Given the description of an element on the screen output the (x, y) to click on. 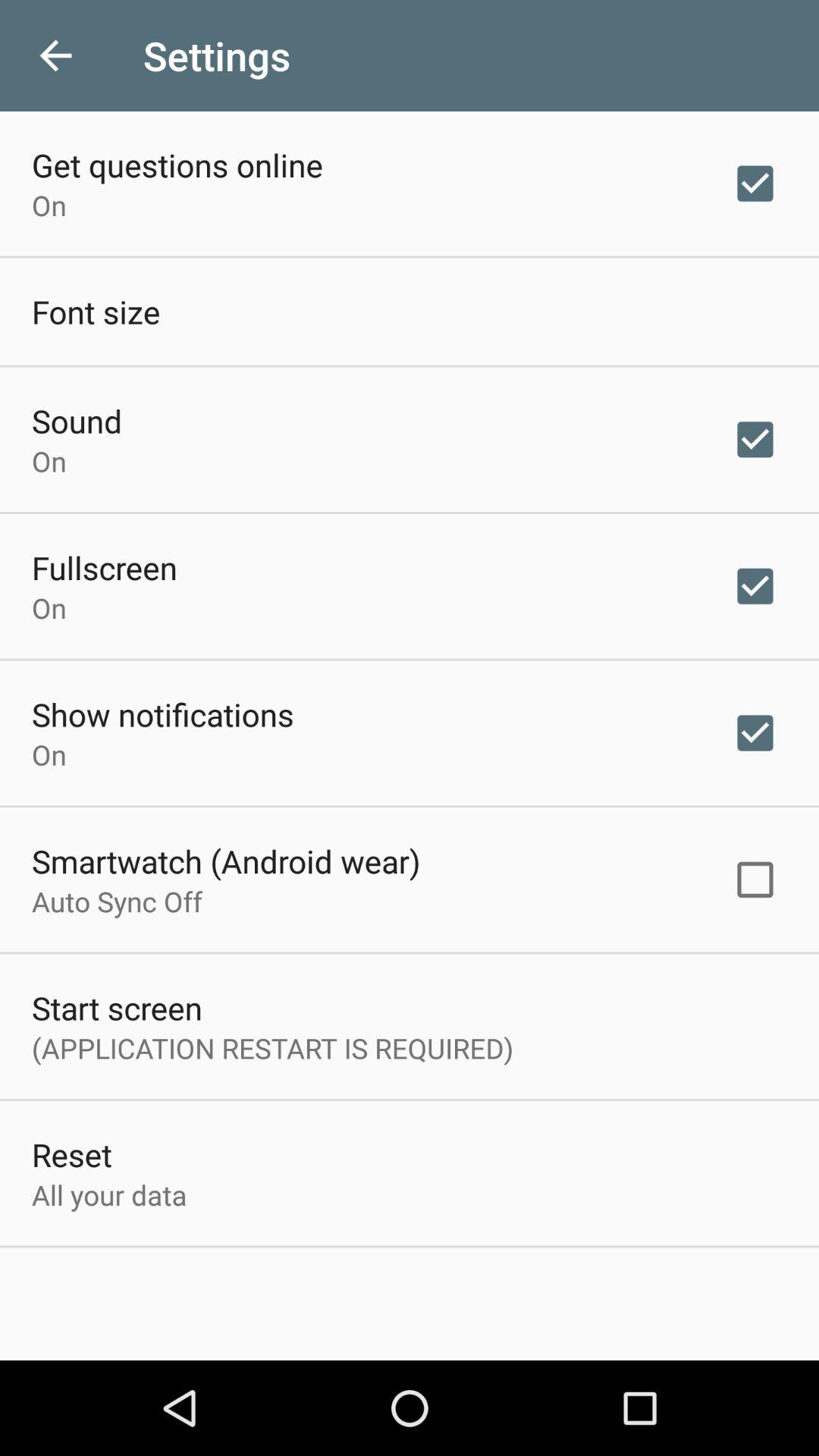
launch the item below the font size (76, 420)
